Given the description of an element on the screen output the (x, y) to click on. 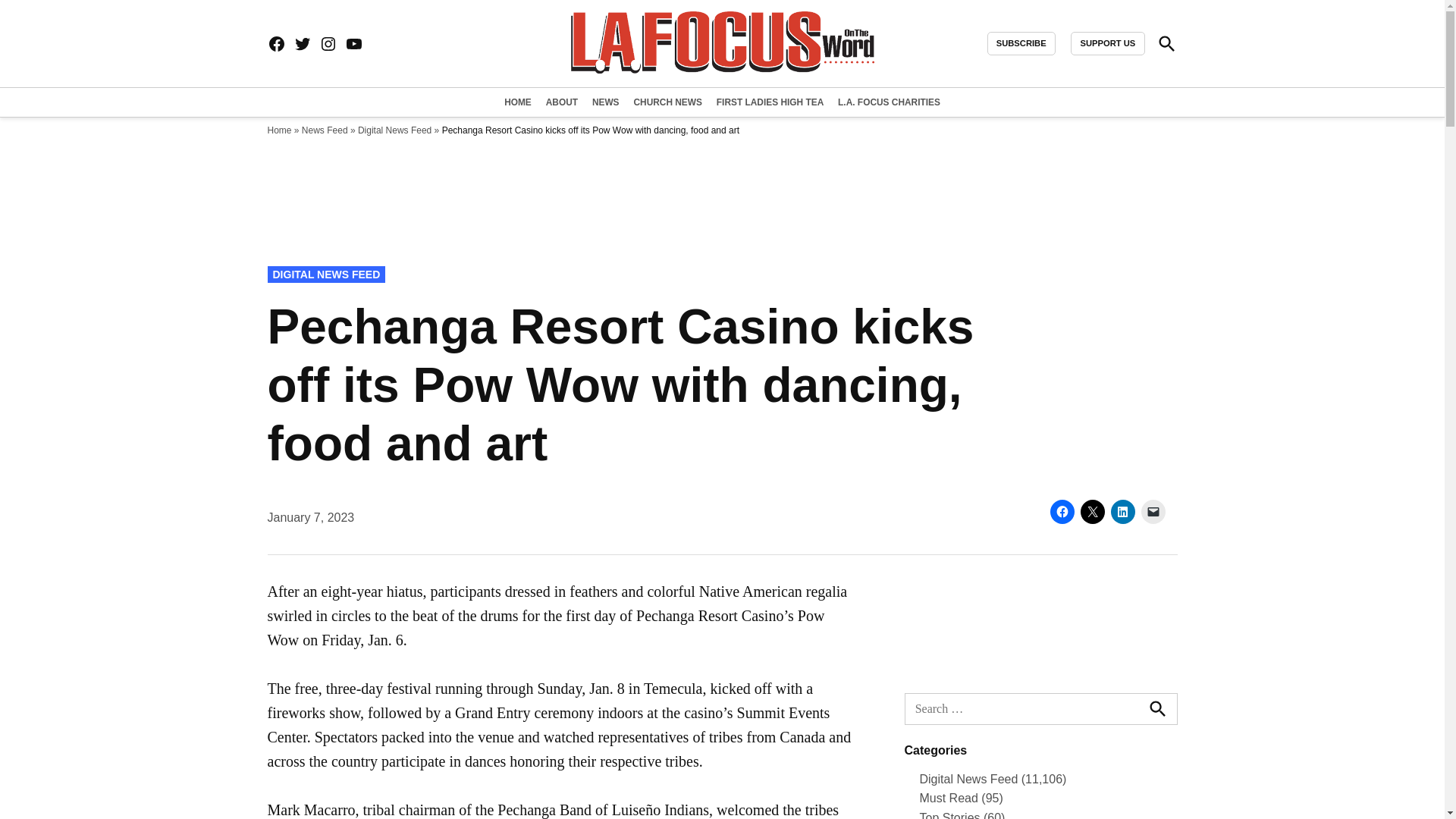
L.A. Focus Newspaper (1025, 54)
Home (278, 129)
FIRST LADIES HIGH TEA (770, 102)
ABOUT (560, 102)
L.A. FOCUS CHARITIES (887, 102)
SUBSCRIBE (1021, 43)
Click to share on Facebook (1061, 511)
Click to email a link to a friend (1152, 511)
HOME (519, 102)
Click to share on X (1091, 511)
